Given the description of an element on the screen output the (x, y) to click on. 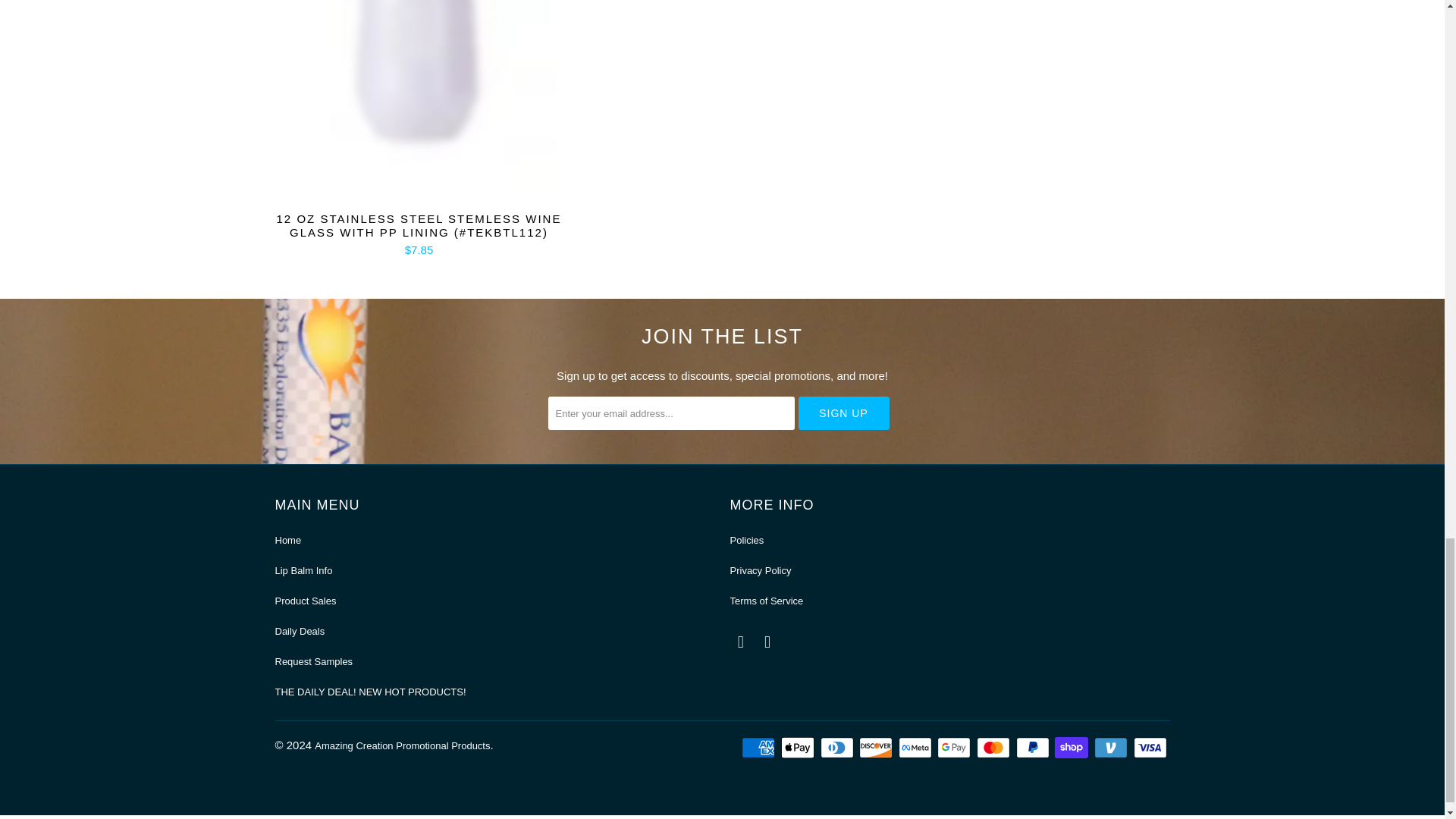
Venmo (1112, 747)
Amazing Creation Promotional Products on Facebook (740, 642)
American Express (759, 747)
Shop Pay (1072, 747)
Meta Pay (916, 747)
Sign Up (842, 412)
PayPal (1034, 747)
Discover (877, 747)
Google Pay (955, 747)
Diners Club (839, 747)
Apple Pay (798, 747)
Mastercard (994, 747)
Visa (1150, 747)
Amazing Creation Promotional Products on Instagram (767, 642)
